Given the description of an element on the screen output the (x, y) to click on. 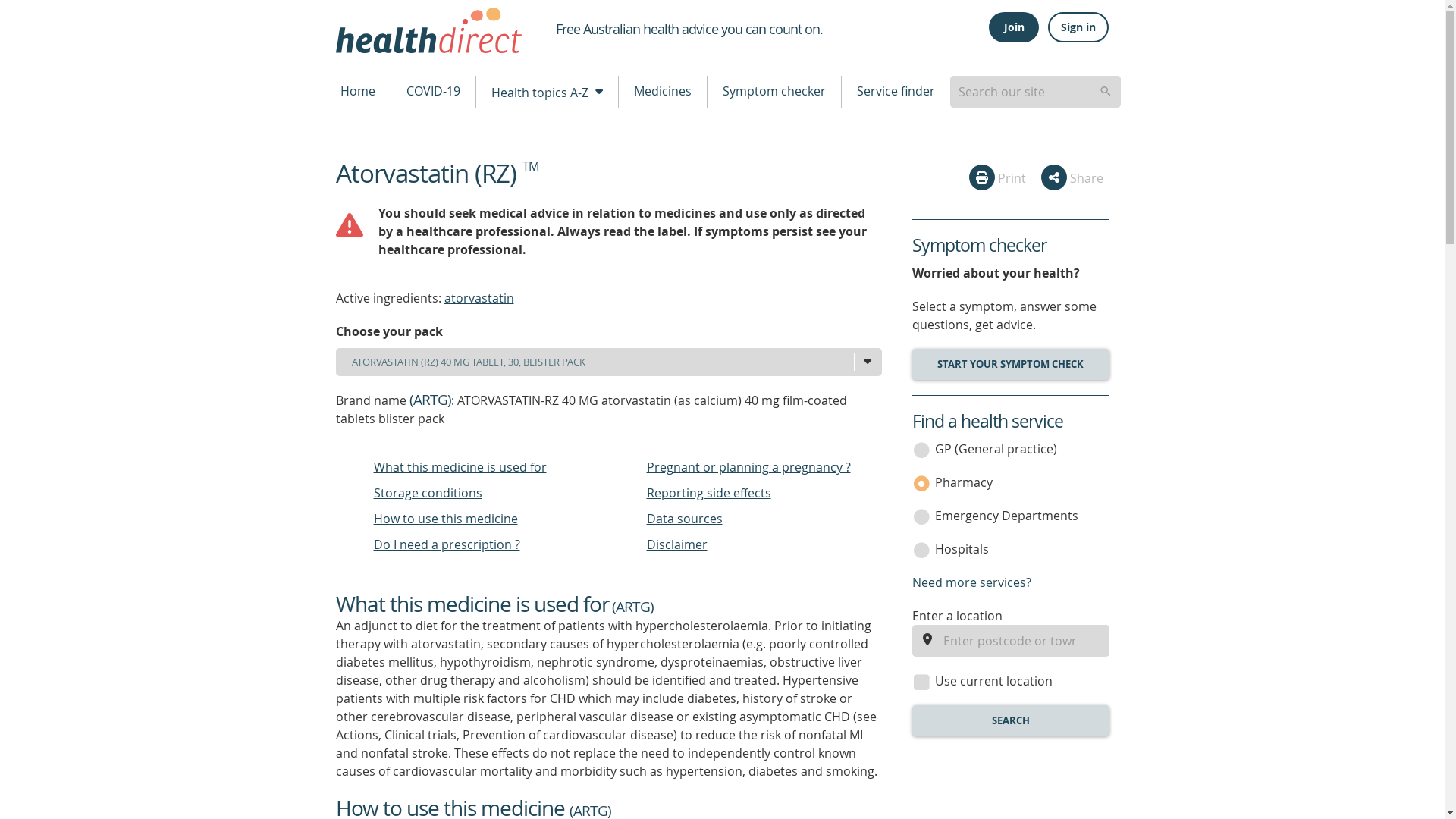
Sign in (1078, 27)
Check symptoms (1009, 364)
Join (1013, 27)
COVID-19 (433, 91)
Suggestion options (1034, 91)
Health topics A-Z (546, 91)
Home (357, 91)
